Given the description of an element on the screen output the (x, y) to click on. 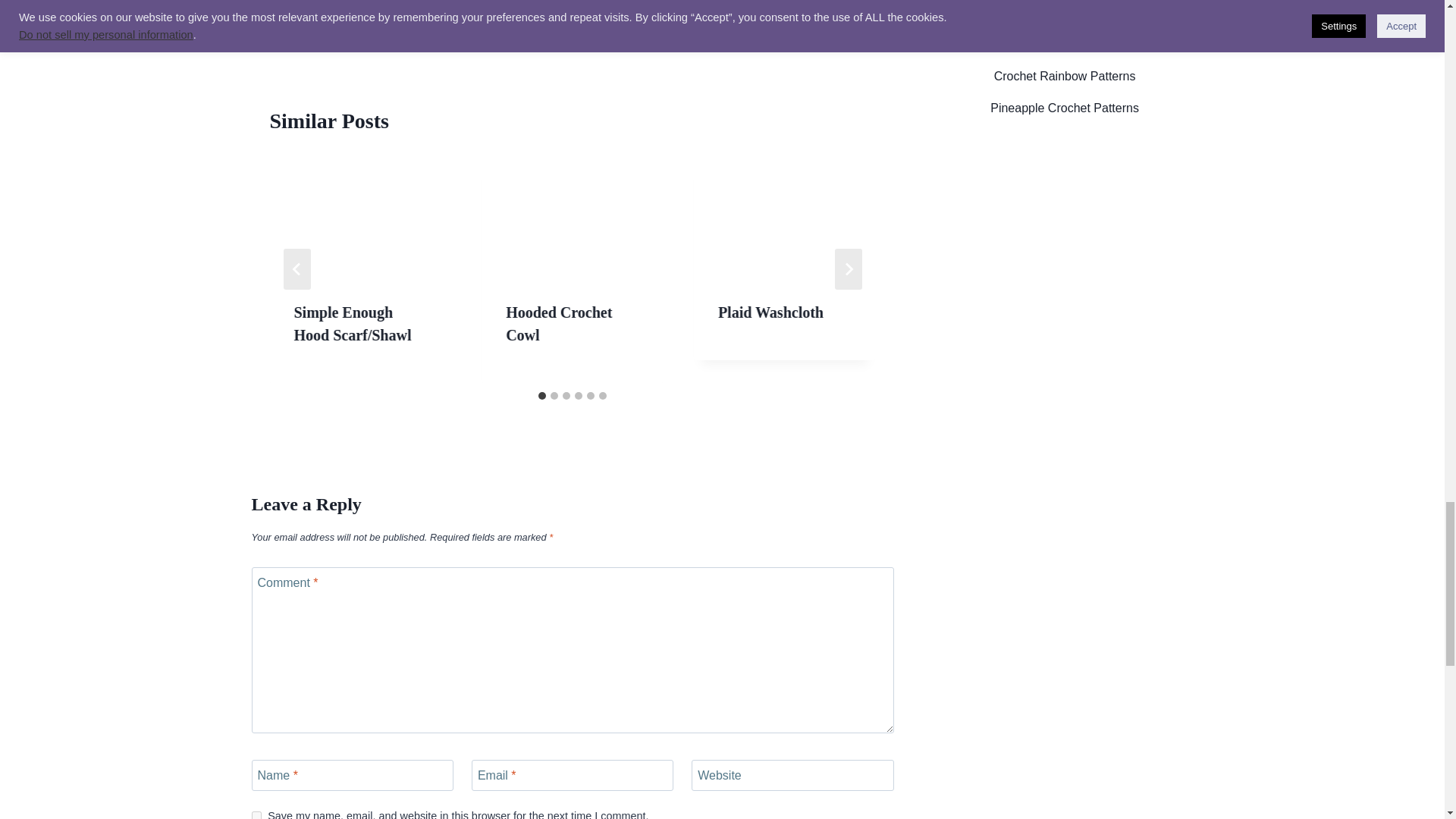
Easy Crochet Patterns (461, 20)
Caitlin's Contagious Creations (325, 20)
yes (256, 815)
red heart super saver (579, 20)
